Given the description of an element on the screen output the (x, y) to click on. 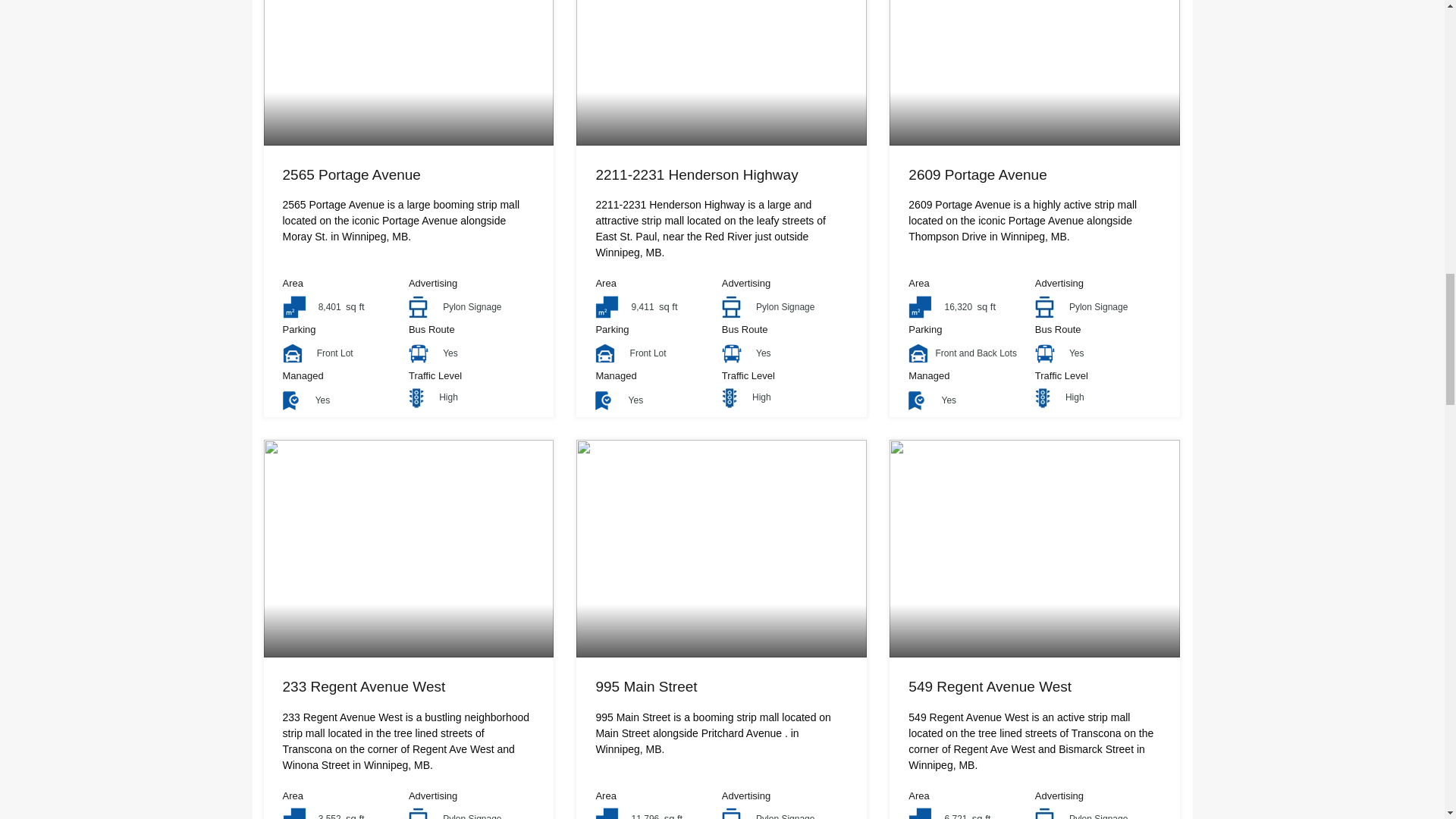
233 Regent Avenue West (363, 686)
2211-2231 Henderson Highway (696, 174)
2565 Portage Avenue (351, 174)
2609 Portage Avenue (977, 174)
995 Main Street (646, 686)
549 Regent Avenue West (989, 686)
